Given the description of an element on the screen output the (x, y) to click on. 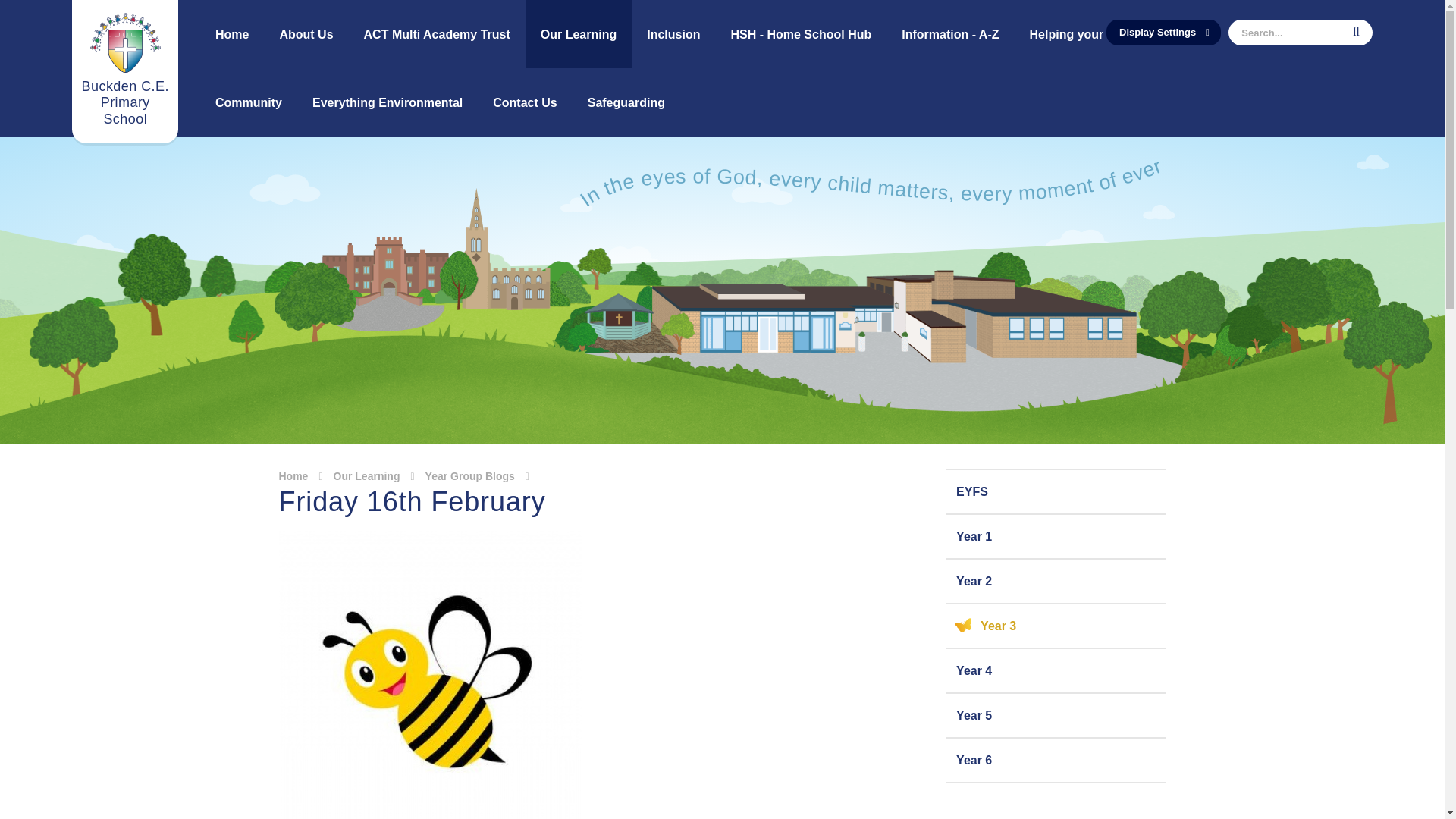
About Us (305, 33)
Search... (1300, 32)
Buckden C.E. Primary School (124, 71)
Search... (1300, 32)
Home (231, 33)
